Given the description of an element on the screen output the (x, y) to click on. 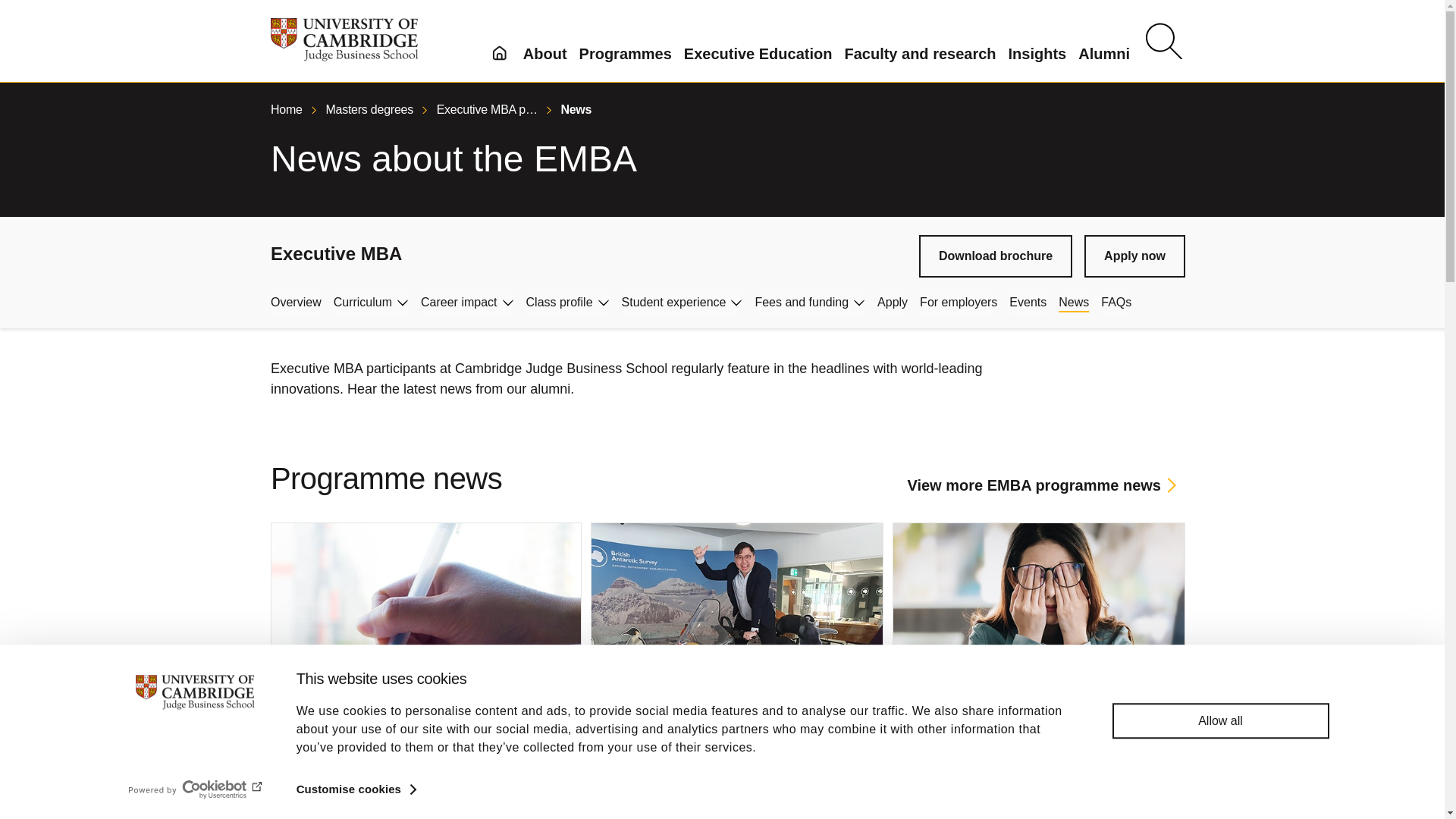
Customise cookies (355, 789)
